Given the description of an element on the screen output the (x, y) to click on. 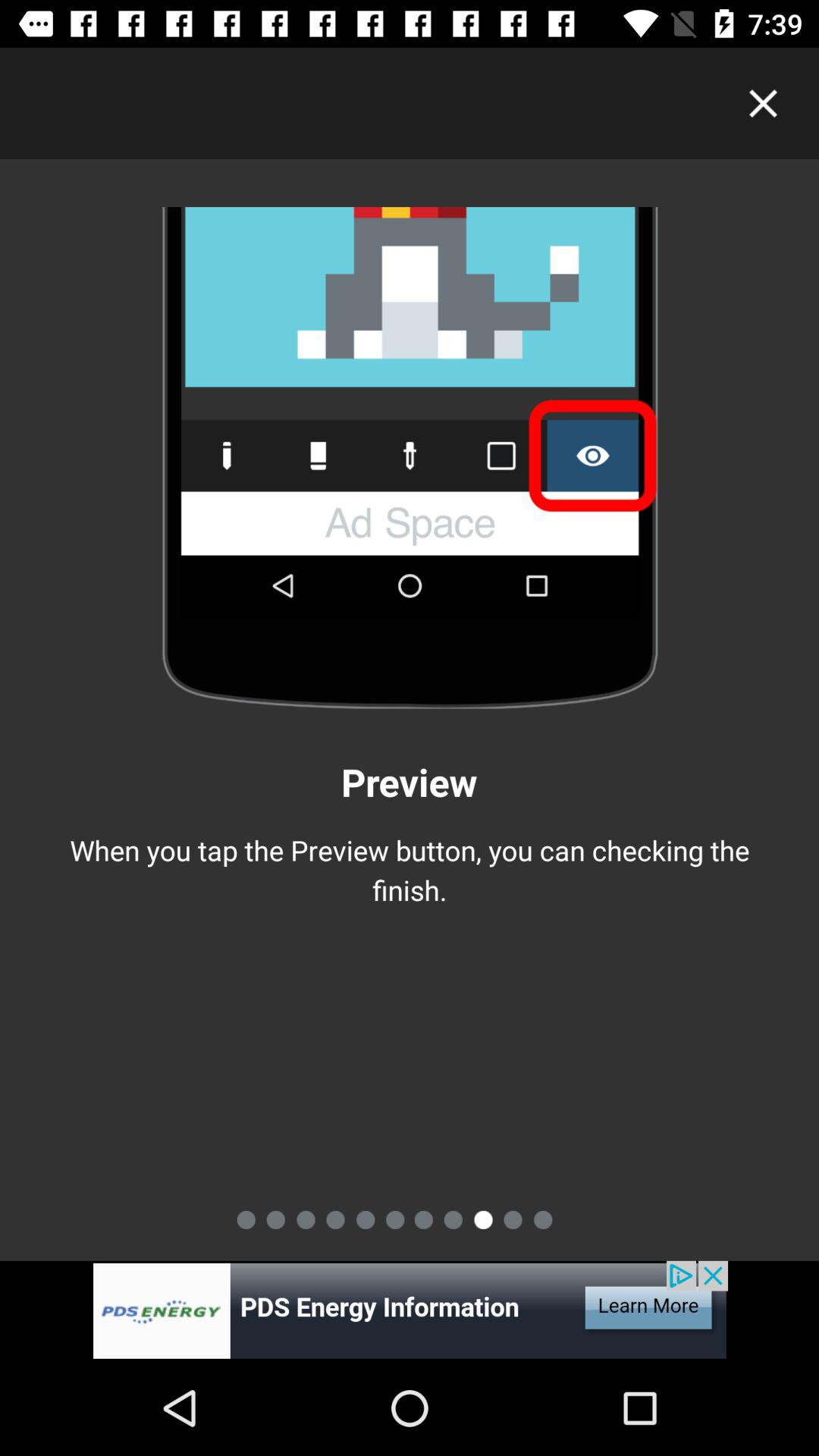
advertisement (409, 1310)
